Given the description of an element on the screen output the (x, y) to click on. 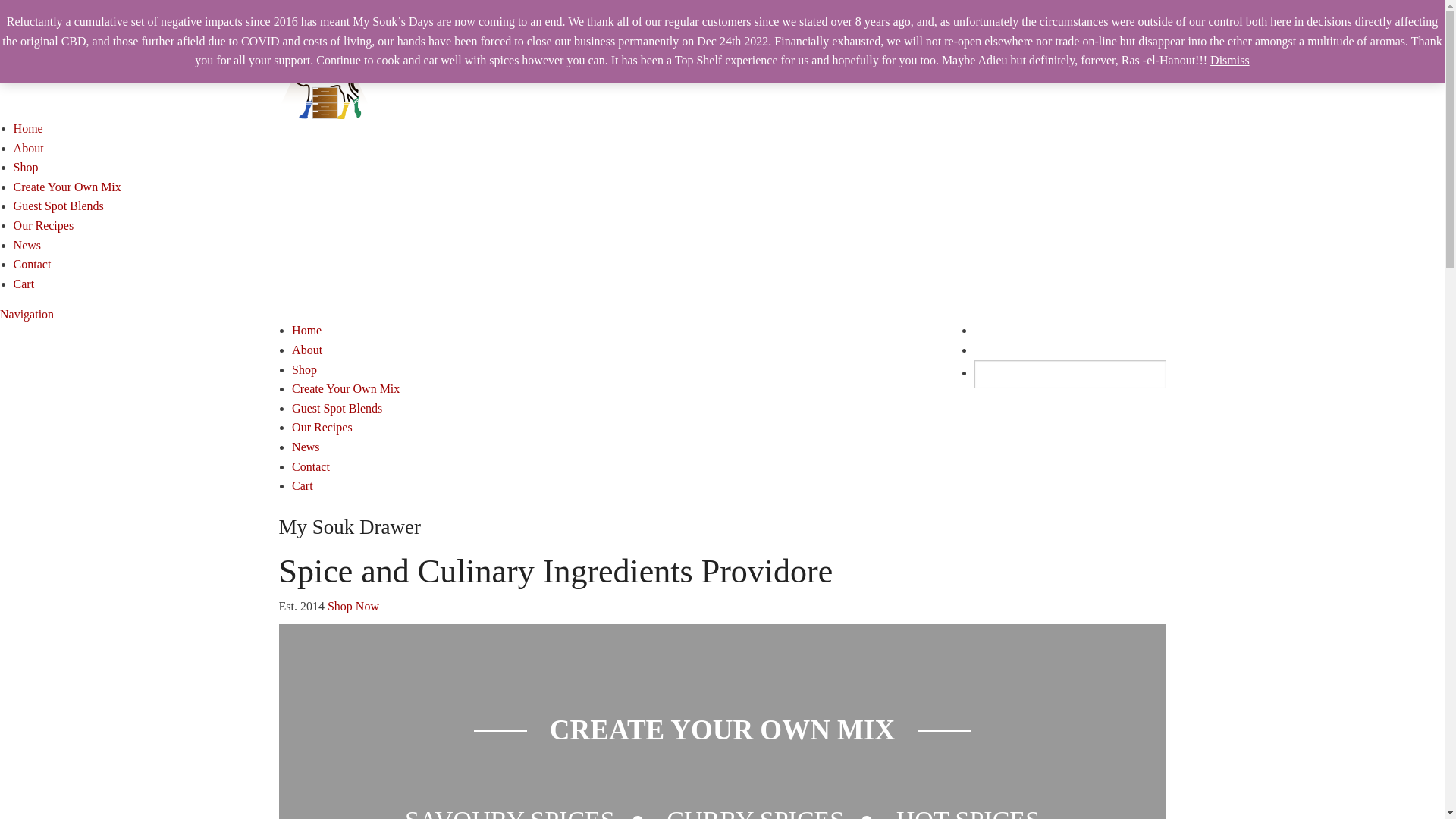
Cart Element type: text (23, 283)
Home Element type: text (306, 329)
About Element type: text (306, 349)
Dismiss Element type: text (1229, 59)
Guest Spot Blends Element type: text (336, 407)
Shop Element type: text (303, 369)
Create Your Own Mix Element type: text (67, 186)
Contact Element type: text (32, 263)
Our Recipes Element type: text (43, 225)
Homepage Element type: hover (324, 63)
Contact Element type: text (310, 465)
Shop Element type: text (25, 166)
About Element type: text (28, 147)
Navigation Element type: text (26, 313)
Our Recipes Element type: text (321, 426)
News Element type: text (305, 446)
Home Element type: text (28, 128)
Create Your Own Mix Element type: text (345, 388)
News Element type: text (26, 244)
Cart Element type: text (302, 485)
Guest Spot Blends Element type: text (58, 205)
Shop Now Element type: text (353, 605)
